Given the description of an element on the screen output the (x, y) to click on. 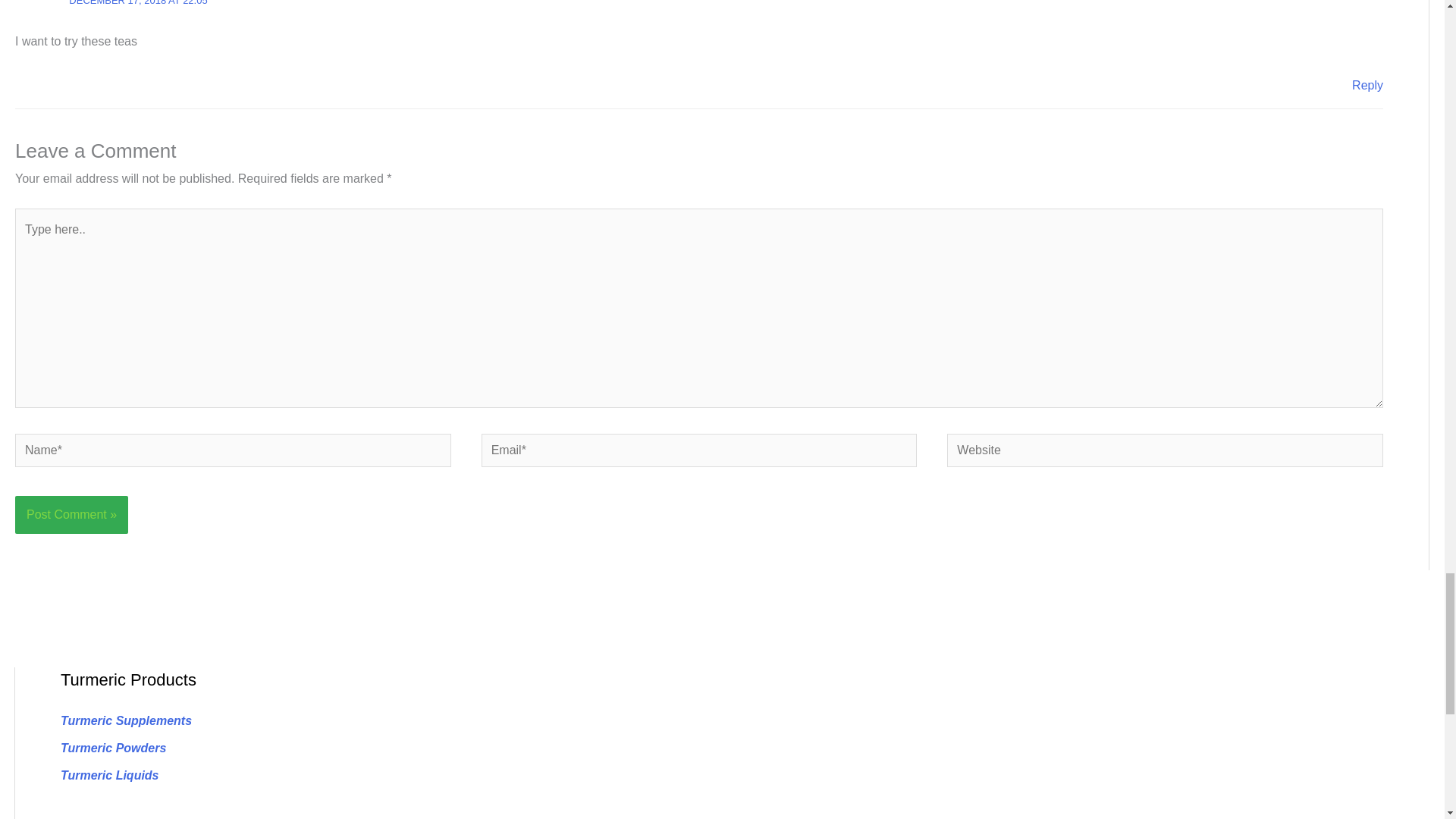
Turmeric Supplements (126, 720)
Turmeric Liquids (109, 775)
DECEMBER 17, 2018 AT 22:05 (137, 2)
Reply (1367, 84)
Turmeric Powders (113, 748)
